Given the description of an element on the screen output the (x, y) to click on. 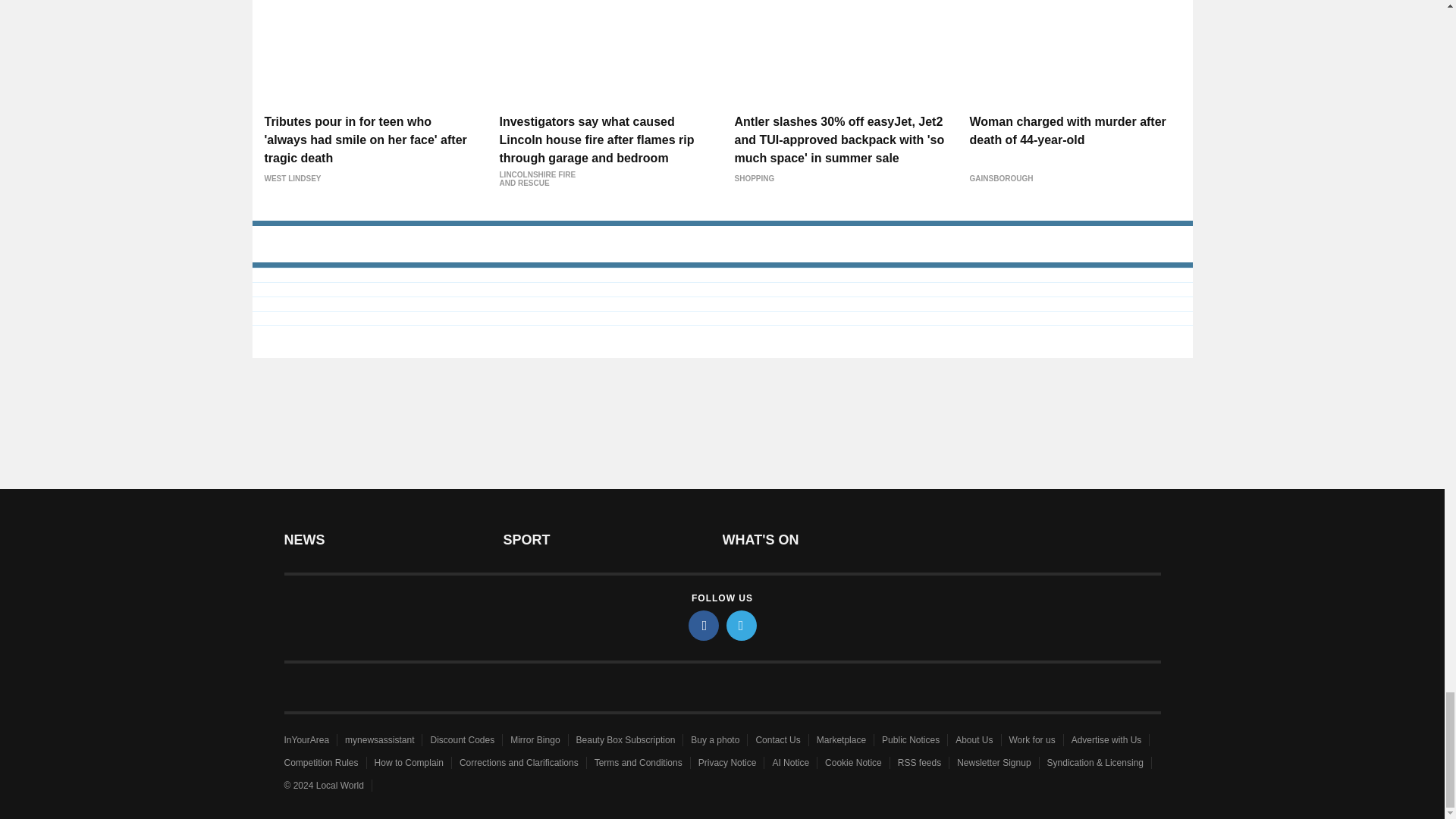
facebook (703, 625)
twitter (741, 625)
